Given the description of an element on the screen output the (x, y) to click on. 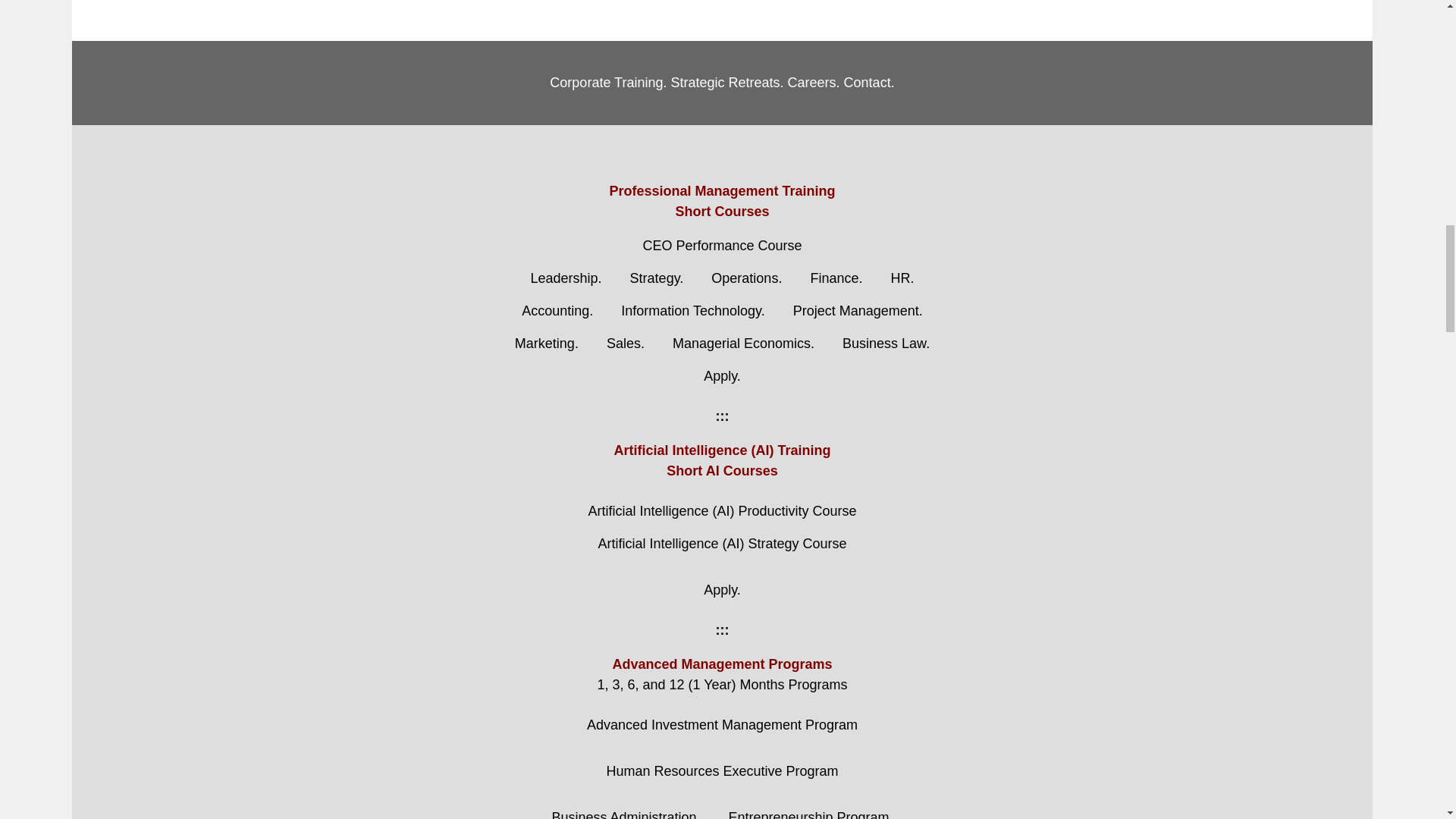
Finance. (836, 278)
Contact. (869, 82)
Business Law. (885, 343)
Corporate Training. (608, 82)
Careers. (813, 82)
Leadership. (566, 278)
CEO Performance Course (721, 246)
Strategic Retreats. (726, 82)
Apply. (721, 376)
Managerial Economics. (744, 343)
